Given the description of an element on the screen output the (x, y) to click on. 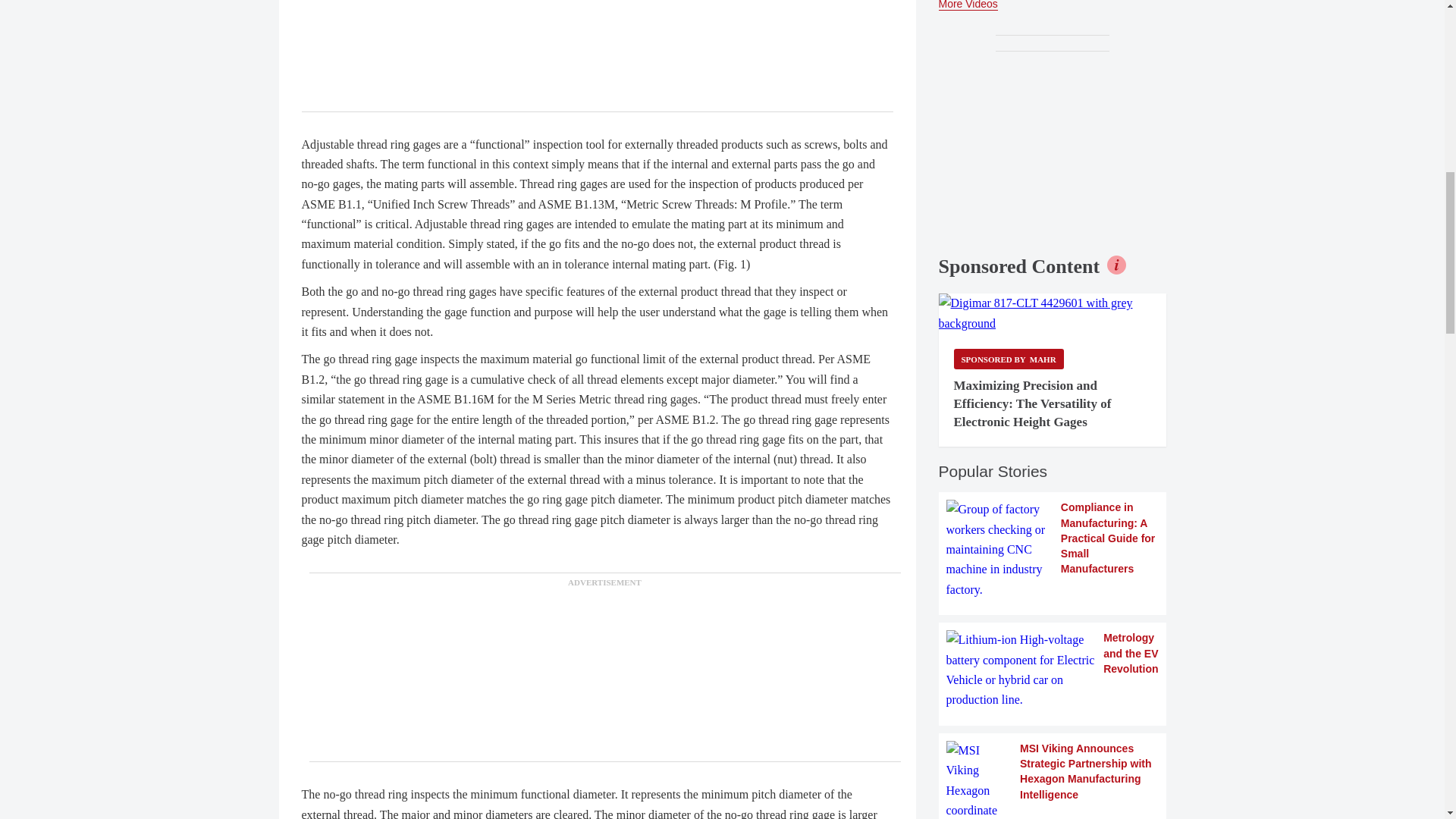
Sponsored by Mahr (1008, 358)
Digimar 817-CLT 4429601 with grey background (1052, 313)
Metrology and the EV Revolution (1052, 669)
